Given the description of an element on the screen output the (x, y) to click on. 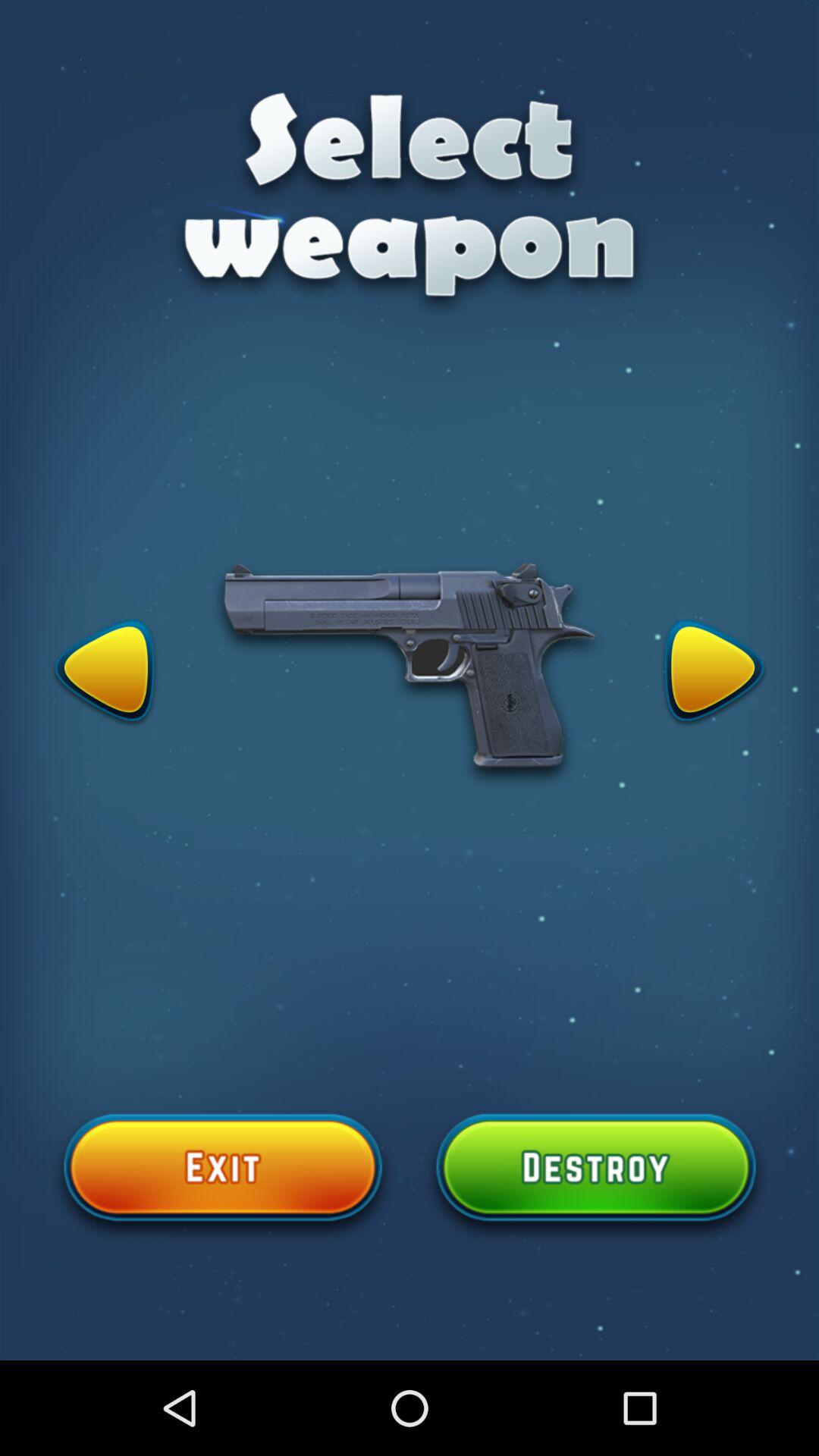
change the seletected element (104, 673)
